Given the description of an element on the screen output the (x, y) to click on. 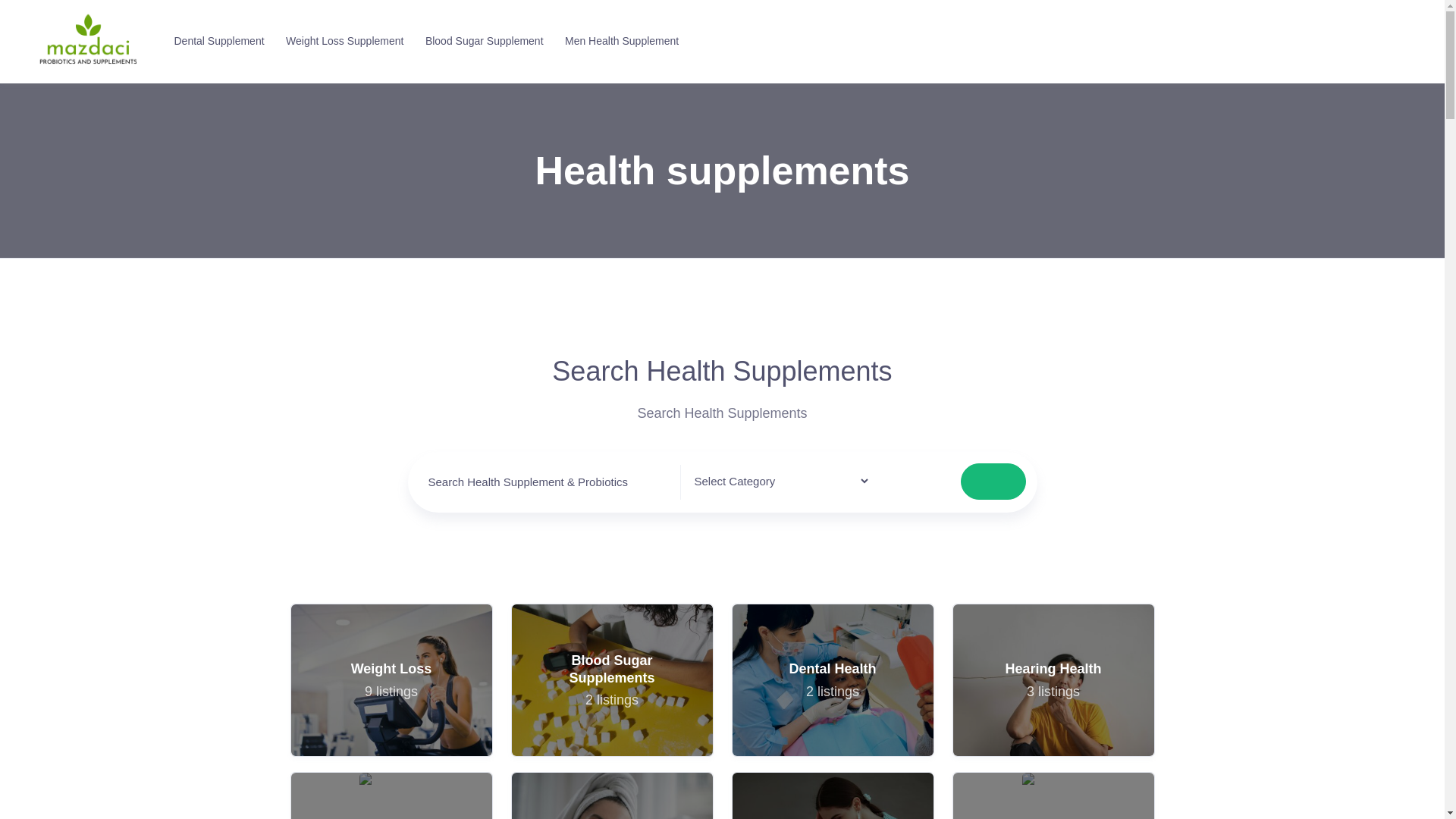
Blood Sugar Supplements (611, 679)
Blood Sugar Supplement (612, 679)
Weight Loss (481, 41)
Hearing Health (390, 679)
Weight Loss Supplement (1052, 679)
Hair Care (612, 795)
Dental Health (341, 41)
